Given the description of an element on the screen output the (x, y) to click on. 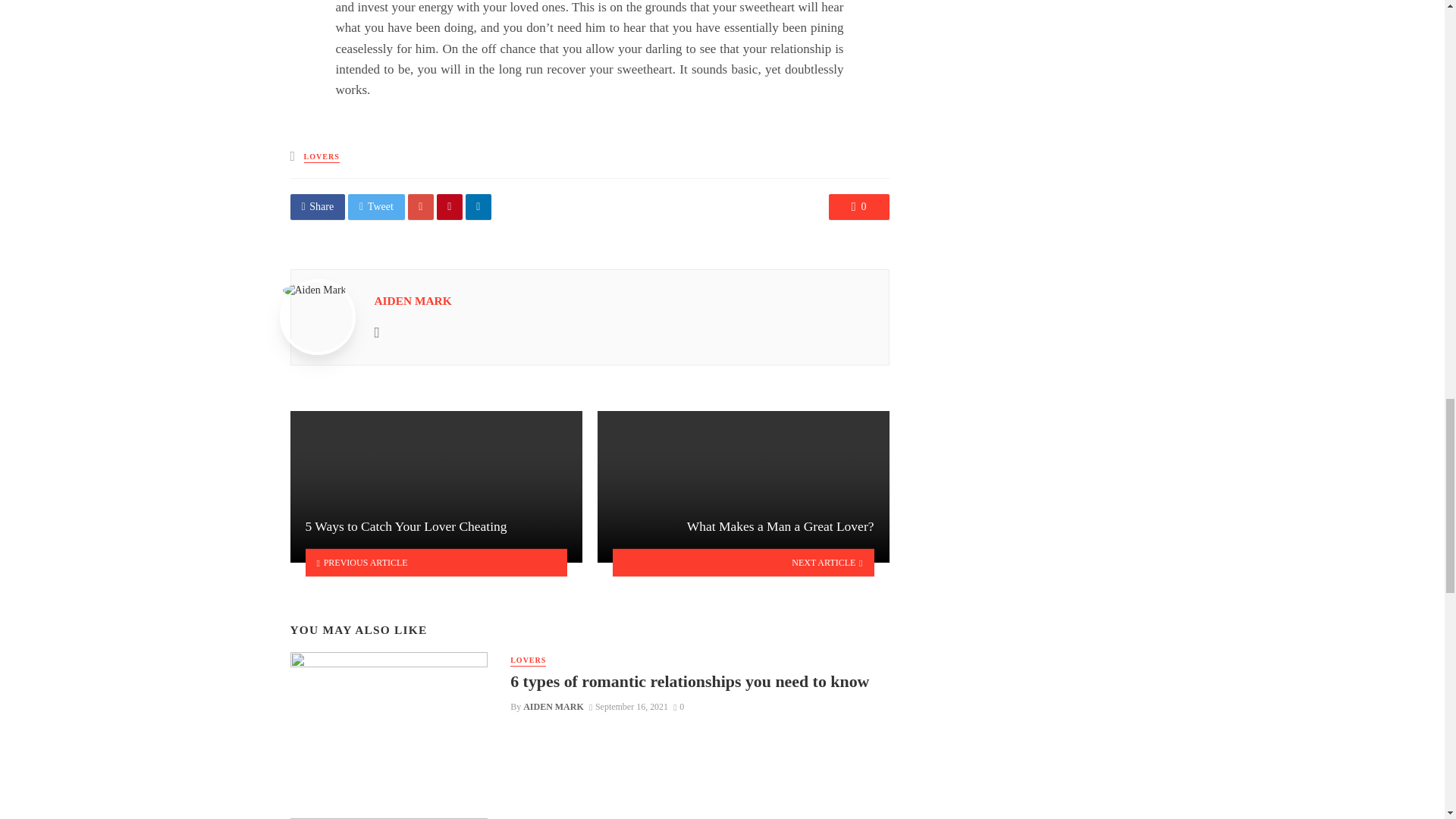
Share on Linkedin (478, 207)
6 types of romantic relationships you need to know (690, 681)
Share on Twitter (375, 207)
AIDEN MARK (552, 706)
LOVERS (528, 660)
Share on Facebook (317, 207)
0 (858, 207)
LOVERS (321, 156)
AIDEN MARK (412, 300)
NEXT ARTICLE (742, 561)
